Given the description of an element on the screen output the (x, y) to click on. 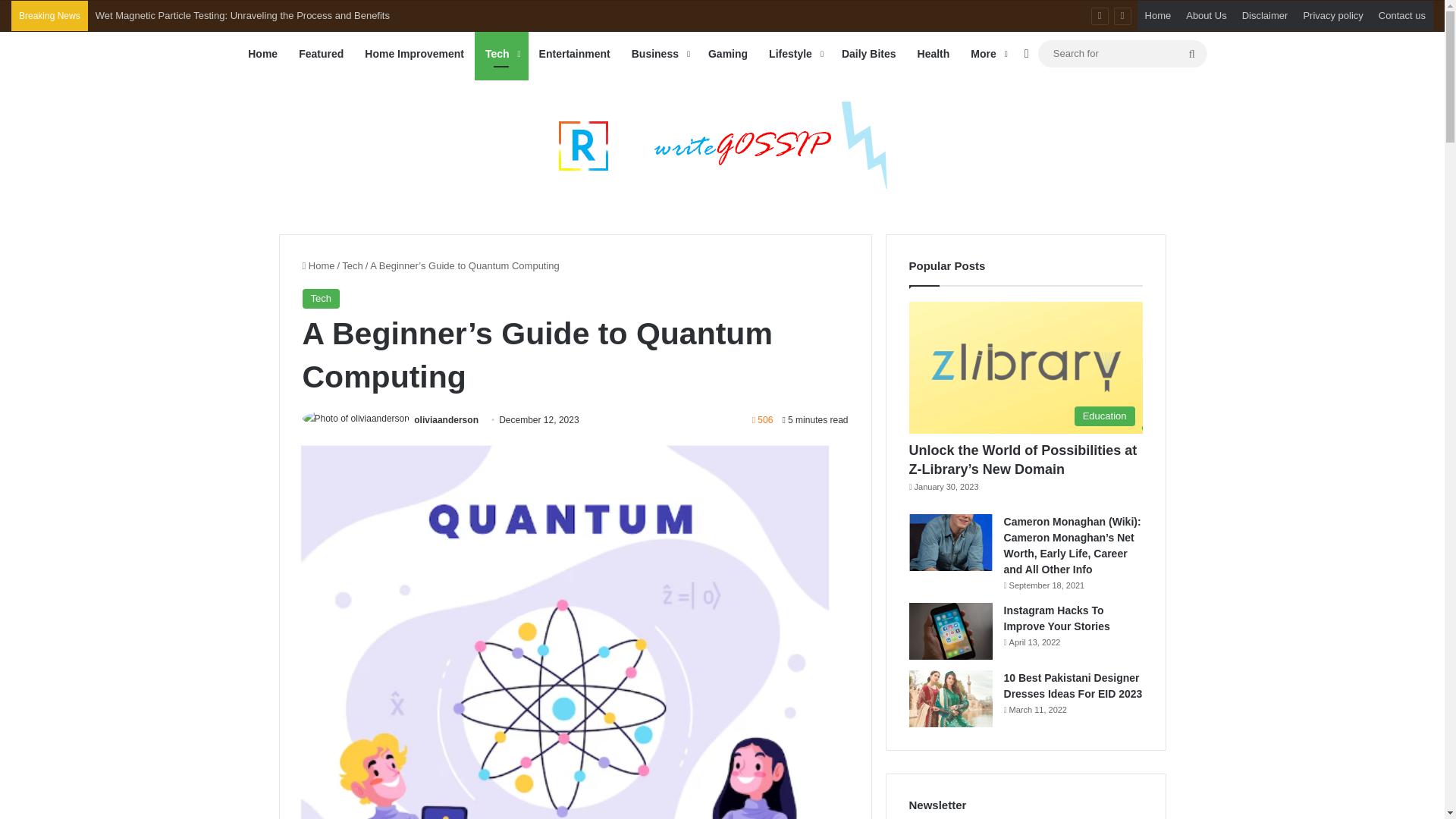
Disclaimer (1264, 15)
About Us (1205, 15)
oliviaanderson (446, 419)
Search for (1122, 53)
Health (933, 53)
Entertainment (574, 53)
Home Improvement (413, 53)
Home (1158, 15)
Contact us (1401, 15)
Gaming (727, 53)
Tech (320, 298)
Privacy policy (1332, 15)
Home (317, 265)
oliviaanderson (446, 419)
